Given the description of an element on the screen output the (x, y) to click on. 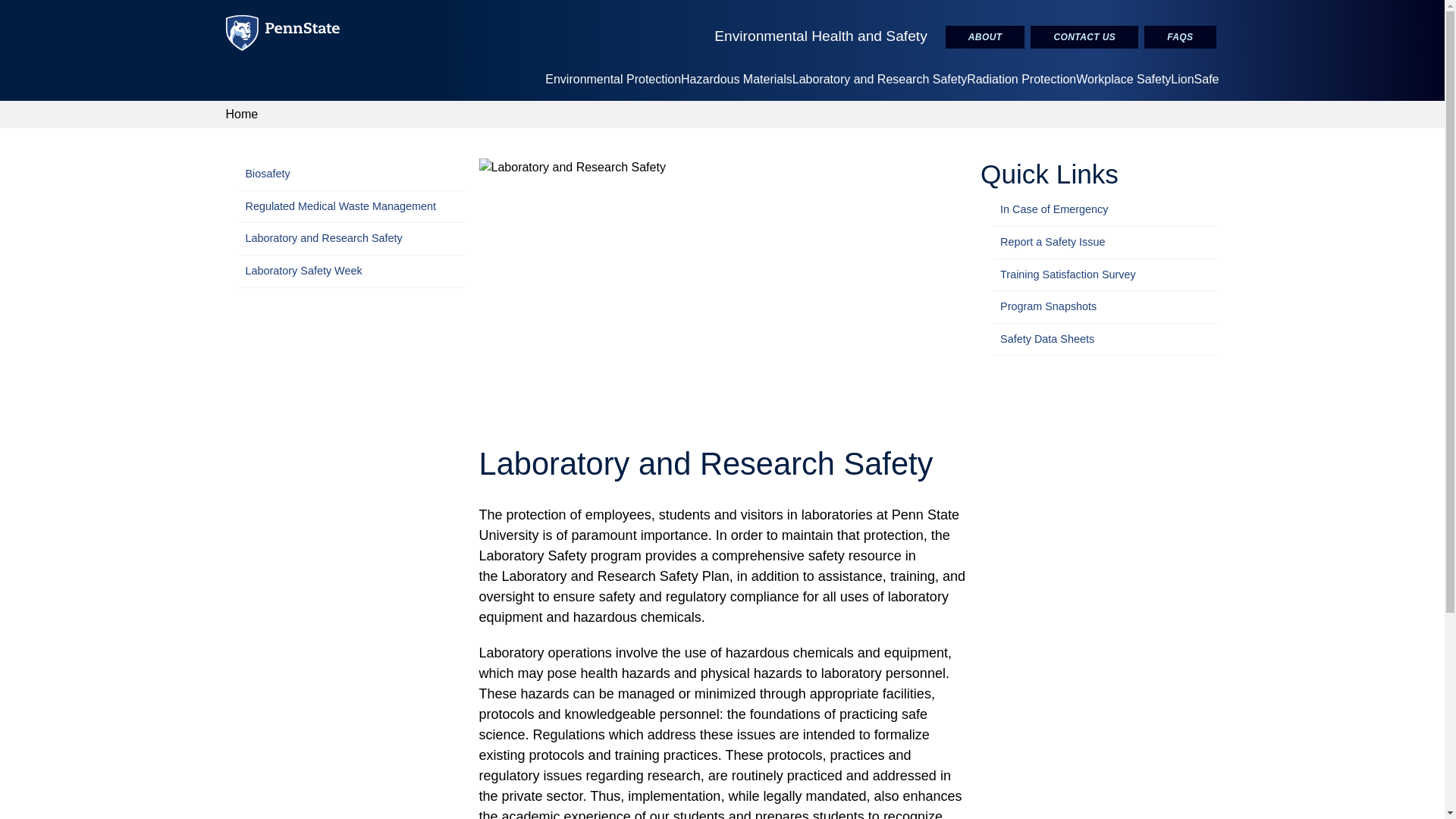
Environmental Protection (612, 79)
FAQS (1179, 36)
ABOUT (984, 36)
CONTACT US (1084, 36)
Environmental Health and Safety (820, 36)
